Given the description of an element on the screen output the (x, y) to click on. 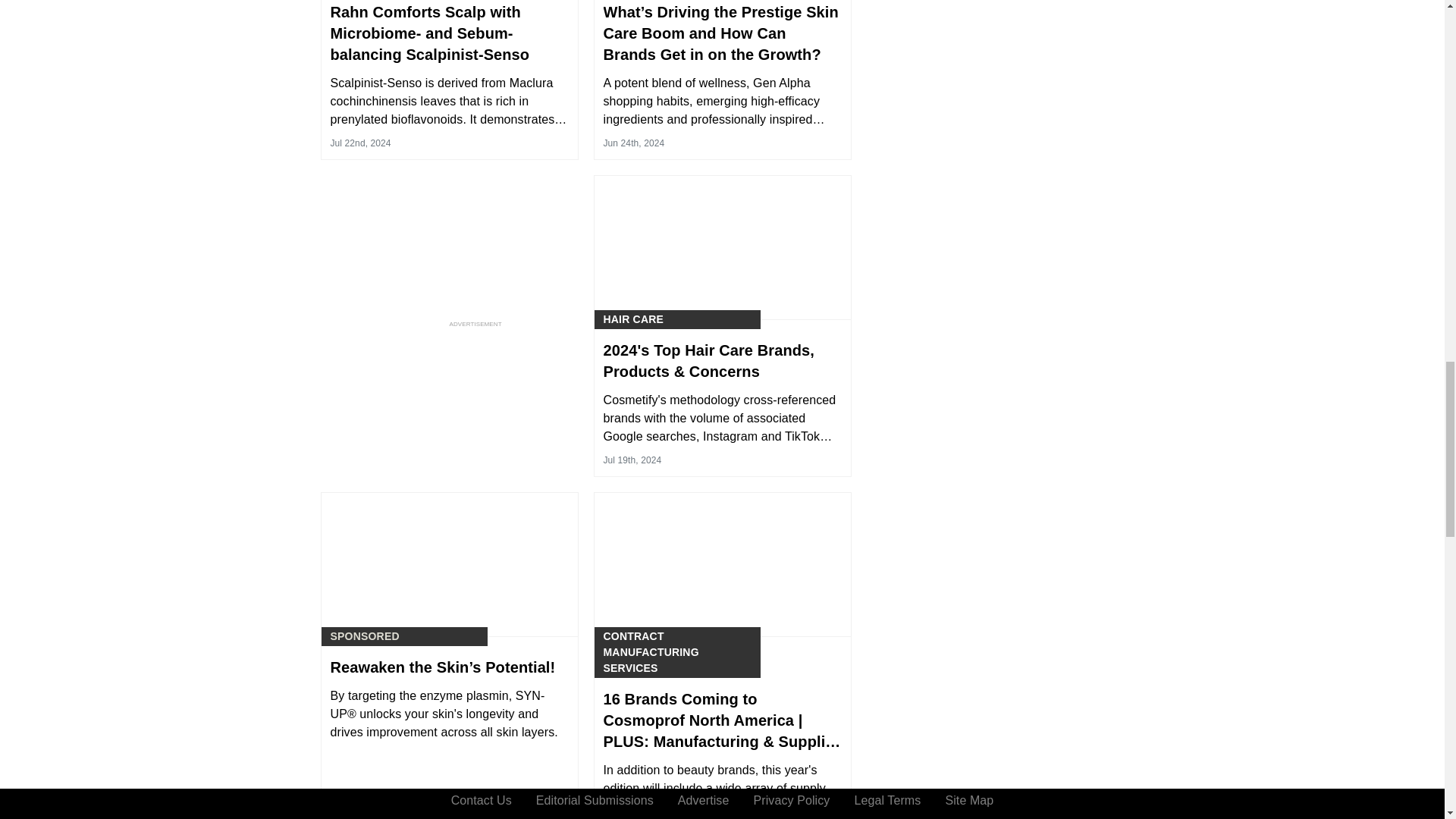
Sponsored (364, 636)
